Given the description of an element on the screen output the (x, y) to click on. 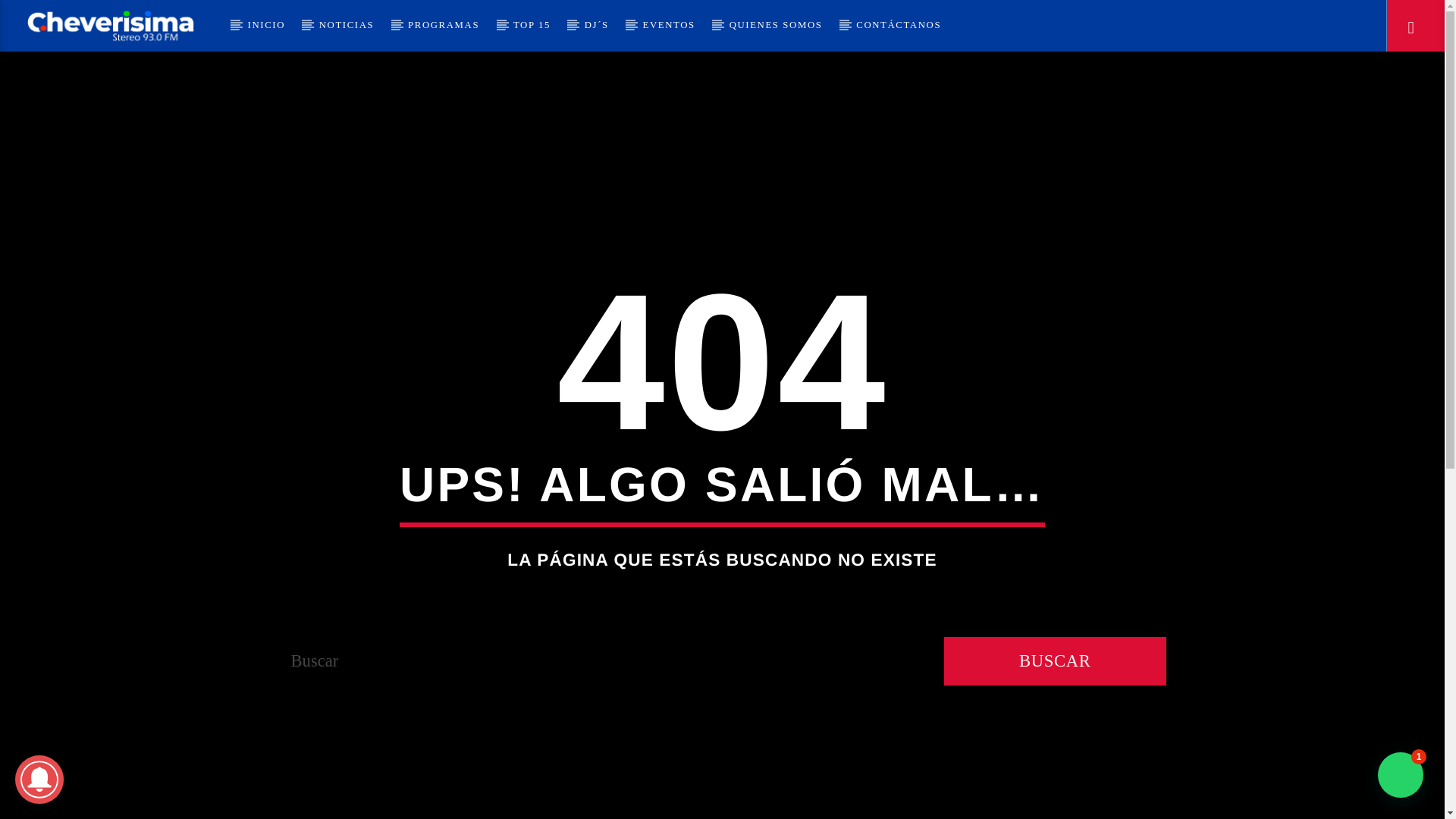
NOTICIAS (345, 25)
PROGRAMAS (443, 25)
TOP 15 (531, 25)
EVENTOS (668, 25)
QUIENES SOMOS (775, 25)
Buscar (1054, 661)
Buscar (1203, 75)
INICIO (265, 25)
